Given the description of an element on the screen output the (x, y) to click on. 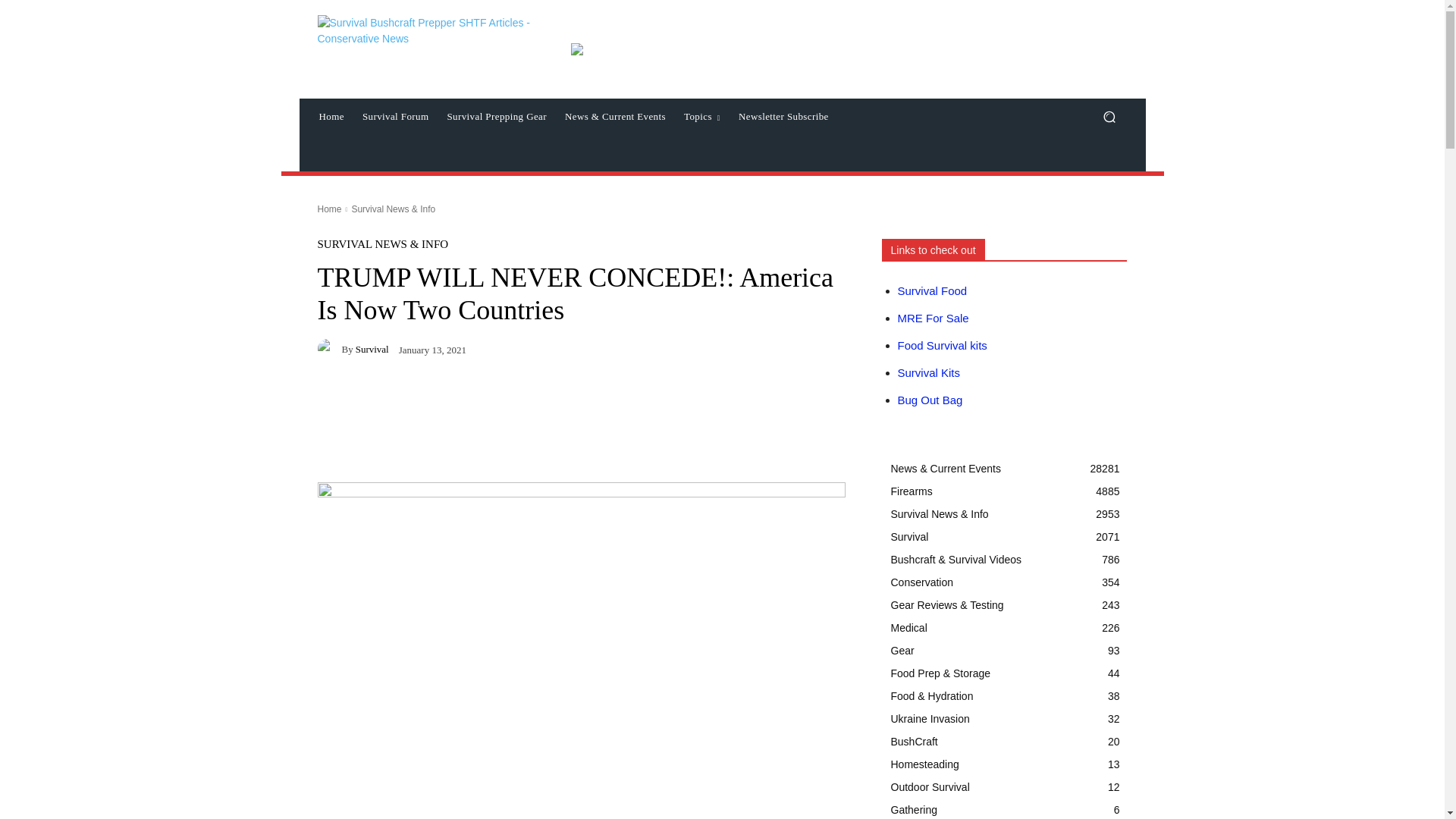
survival (328, 348)
Survival Forum  (395, 116)
